Given the description of an element on the screen output the (x, y) to click on. 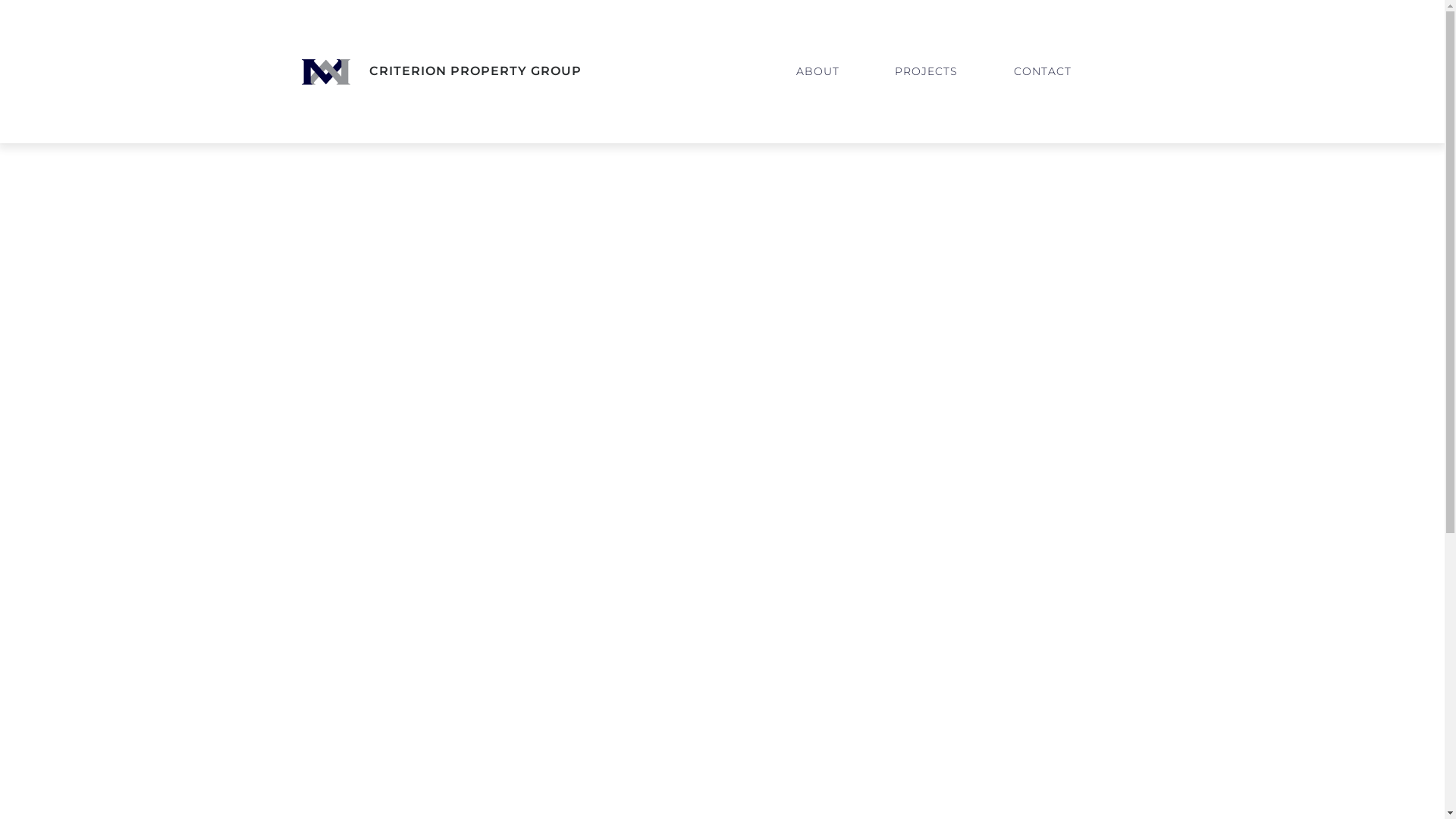
CRITERION PROPERTY GROUP Element type: text (441, 71)
PROJECTS Element type: text (925, 71)
ABOUT Element type: text (817, 71)
CONTACT Element type: text (1042, 71)
